Given the description of an element on the screen output the (x, y) to click on. 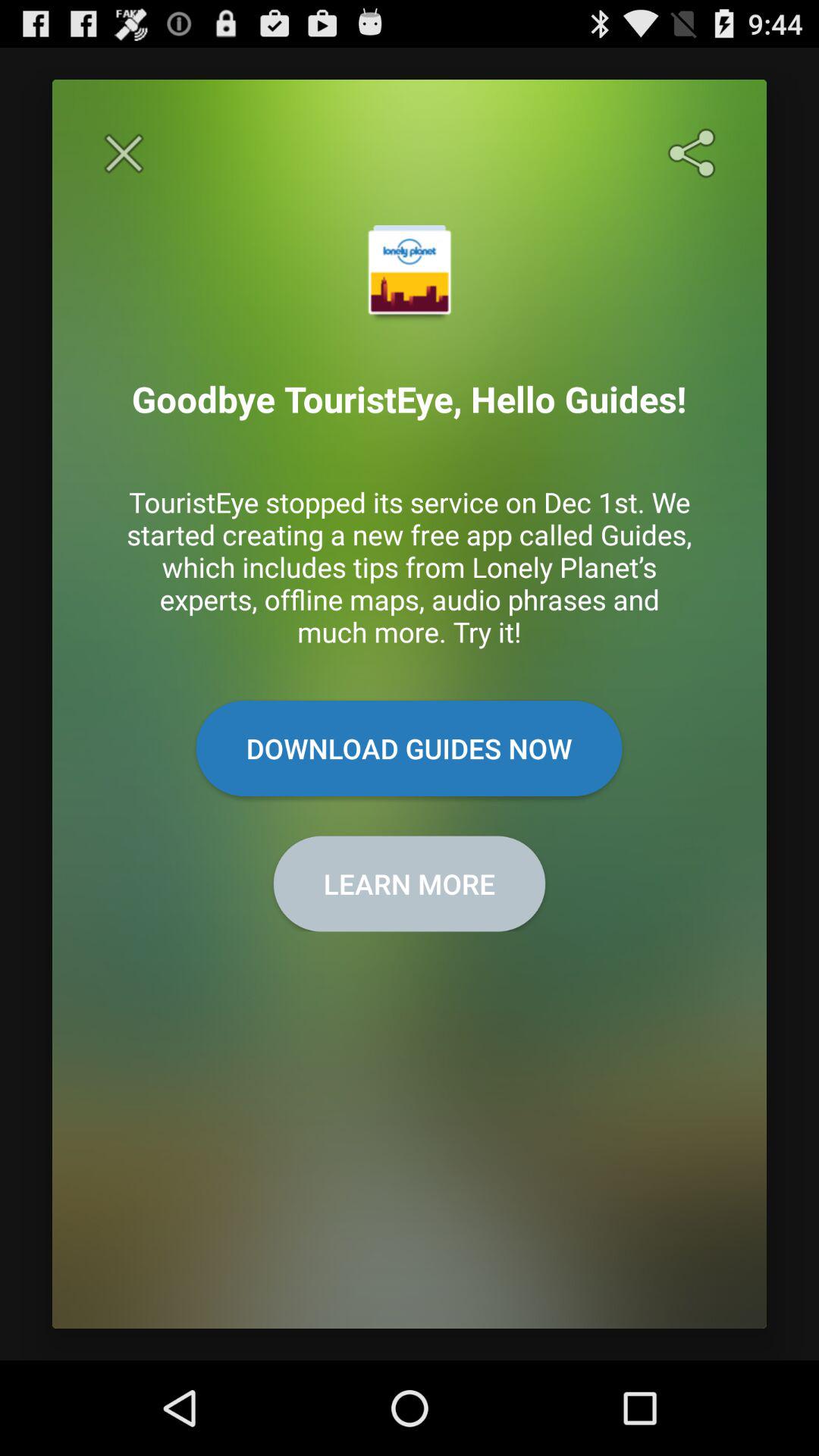
select learn more button (409, 883)
